Given the description of an element on the screen output the (x, y) to click on. 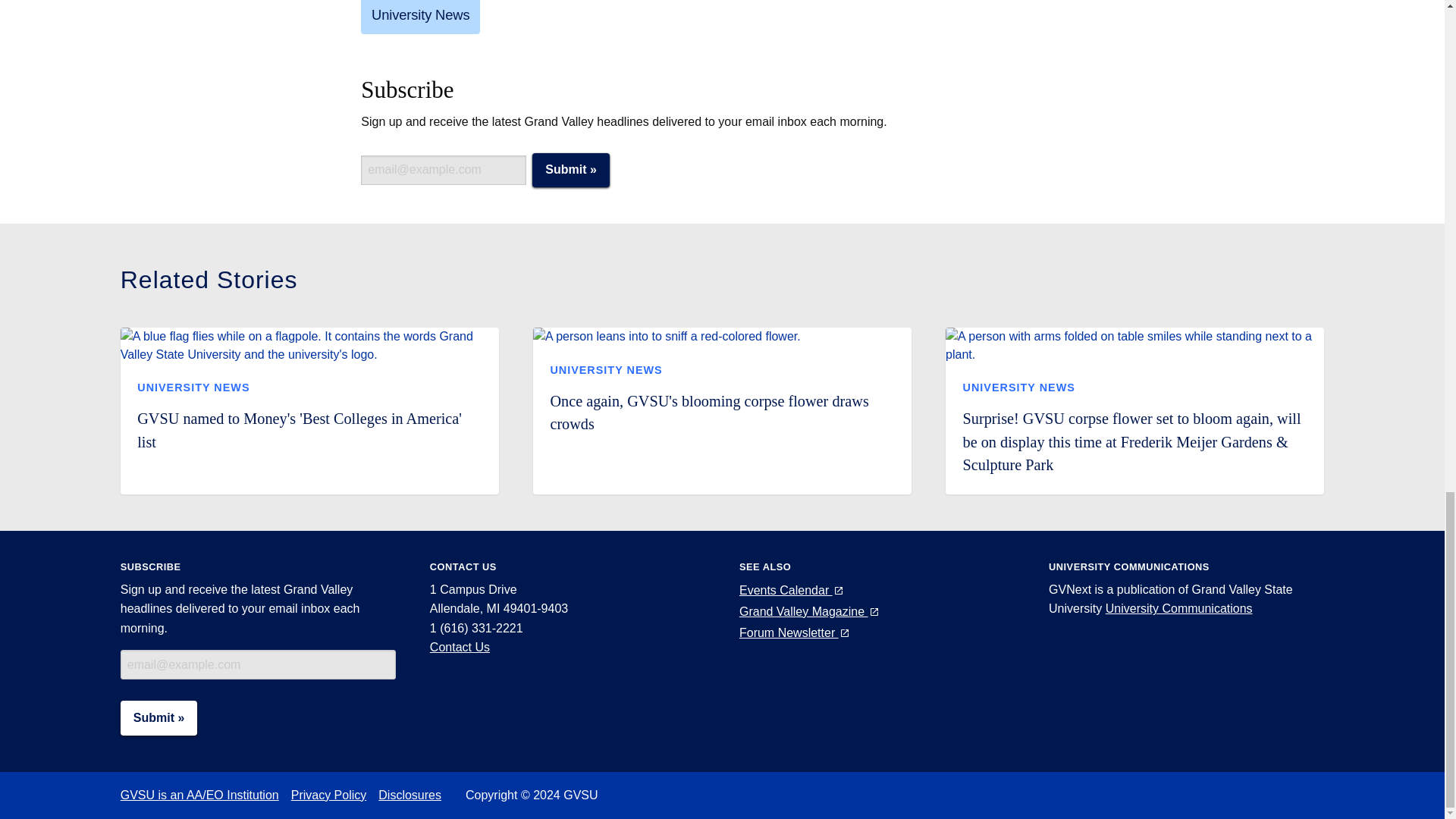
Contact Us (459, 646)
Once again, GVSU's blooming corpse flower draws crowds (708, 412)
Events Calendar (791, 590)
Forum Newsletter (794, 632)
UNIVERSITY NEWS (192, 387)
Disclosures (415, 795)
UNIVERSITY NEWS (1018, 387)
GVSU named to Money's 'Best Colleges in America' list (298, 429)
University News (420, 17)
UNIVERSITY NEWS (606, 369)
